Given the description of an element on the screen output the (x, y) to click on. 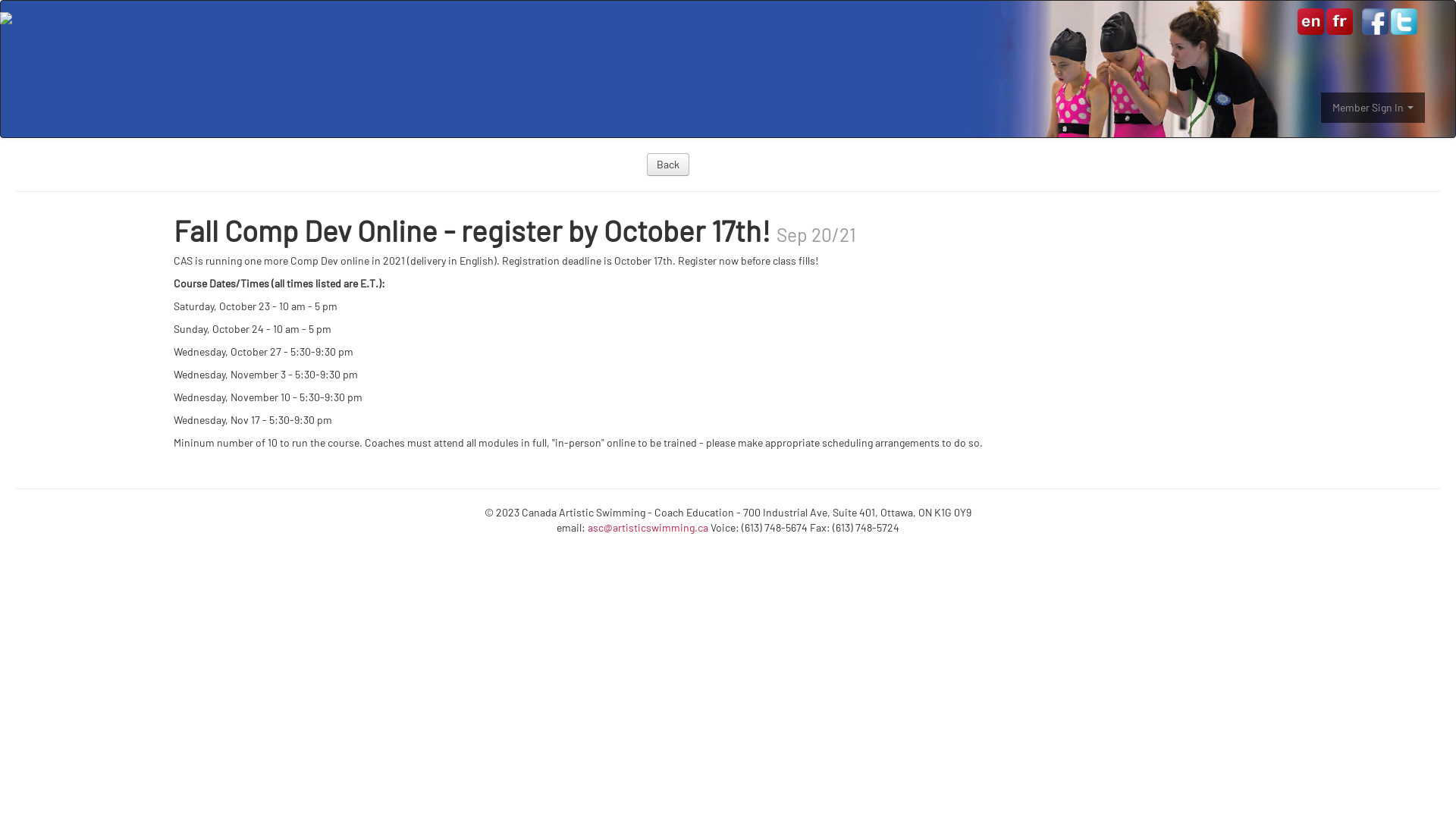
Francais Element type: hover (1338, 19)
asc@artisticswimming.ca Element type: text (647, 526)
Canada Artistic Swimming on Twitter Element type: hover (1403, 21)
Back Element type: text (667, 164)
Member Sign In Element type: text (1372, 107)
Canada Artistic Swimming on Facebook Element type: hover (1374, 21)
English Element type: hover (1310, 19)
